Given the description of an element on the screen output the (x, y) to click on. 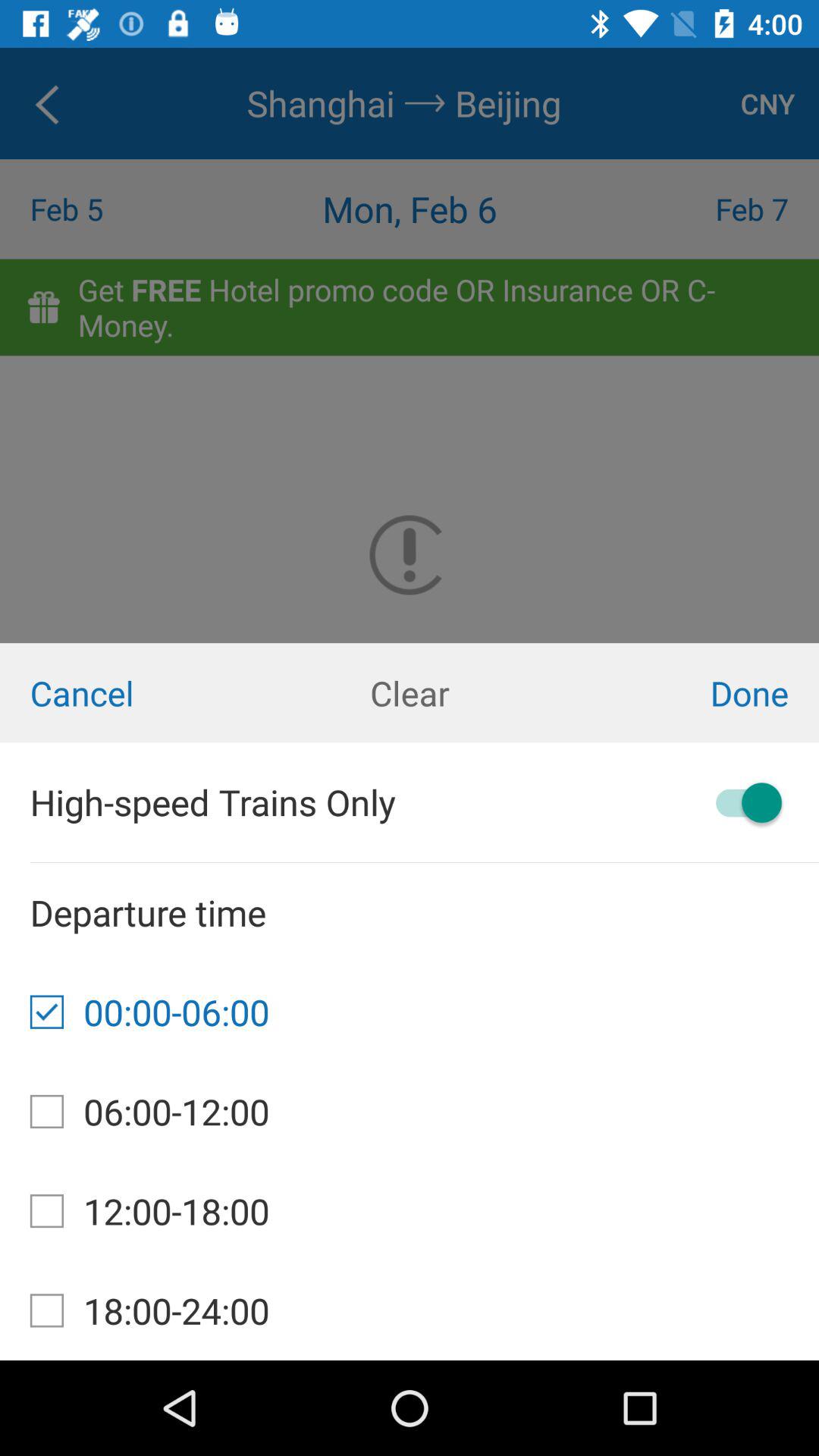
swipe until the clear (409, 692)
